Given the description of an element on the screen output the (x, y) to click on. 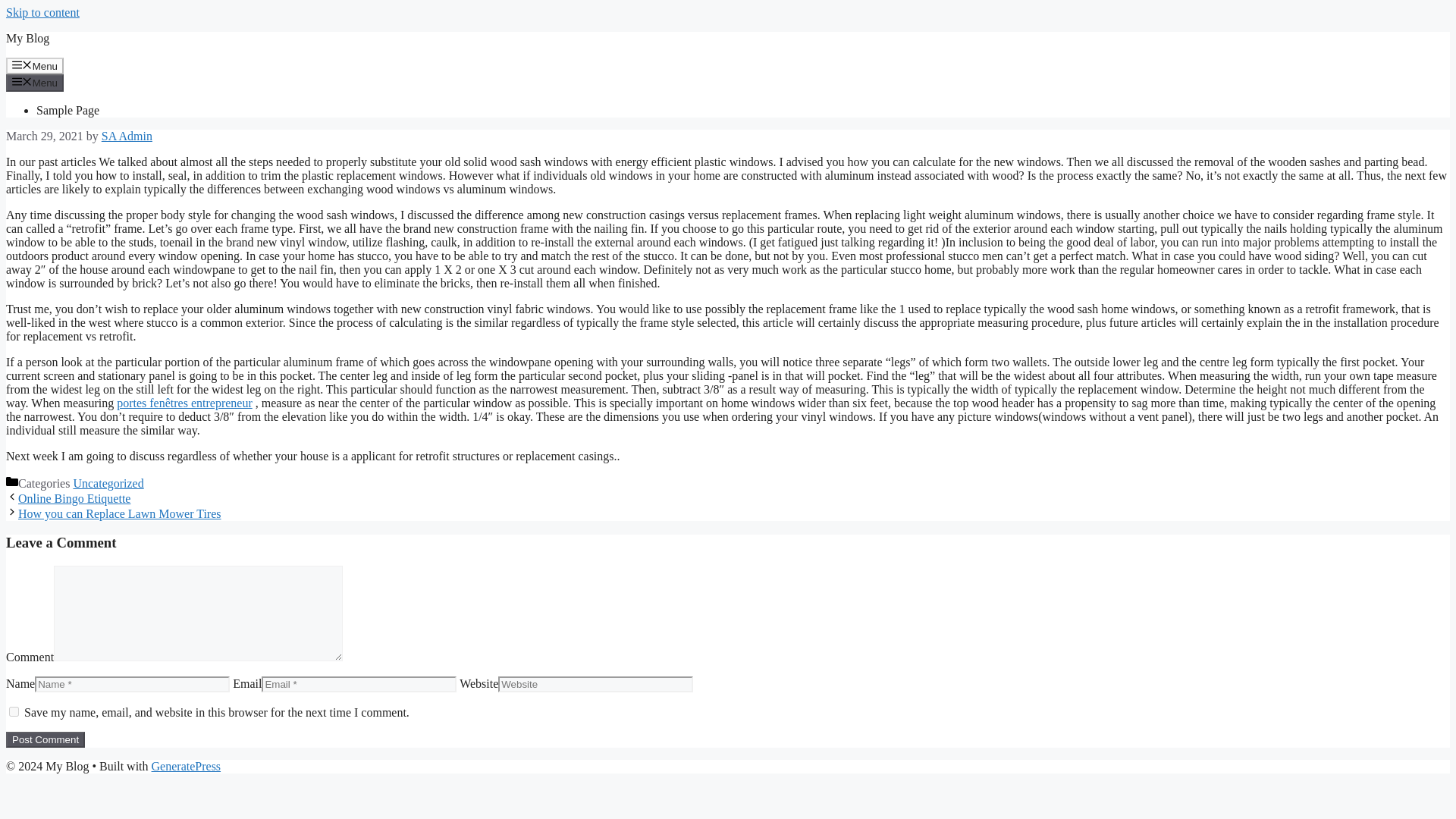
How you can Replace Lawn Mower Tires (119, 513)
Sample Page (67, 110)
Post Comment (44, 739)
Online Bingo Etiquette (74, 498)
yes (13, 711)
Skip to content (42, 11)
Menu (34, 65)
My Blog (27, 38)
SA Admin (126, 135)
Menu (34, 82)
View all posts by SA Admin (126, 135)
Skip to content (42, 11)
Uncategorized (107, 482)
Post Comment (44, 739)
